Given the description of an element on the screen output the (x, y) to click on. 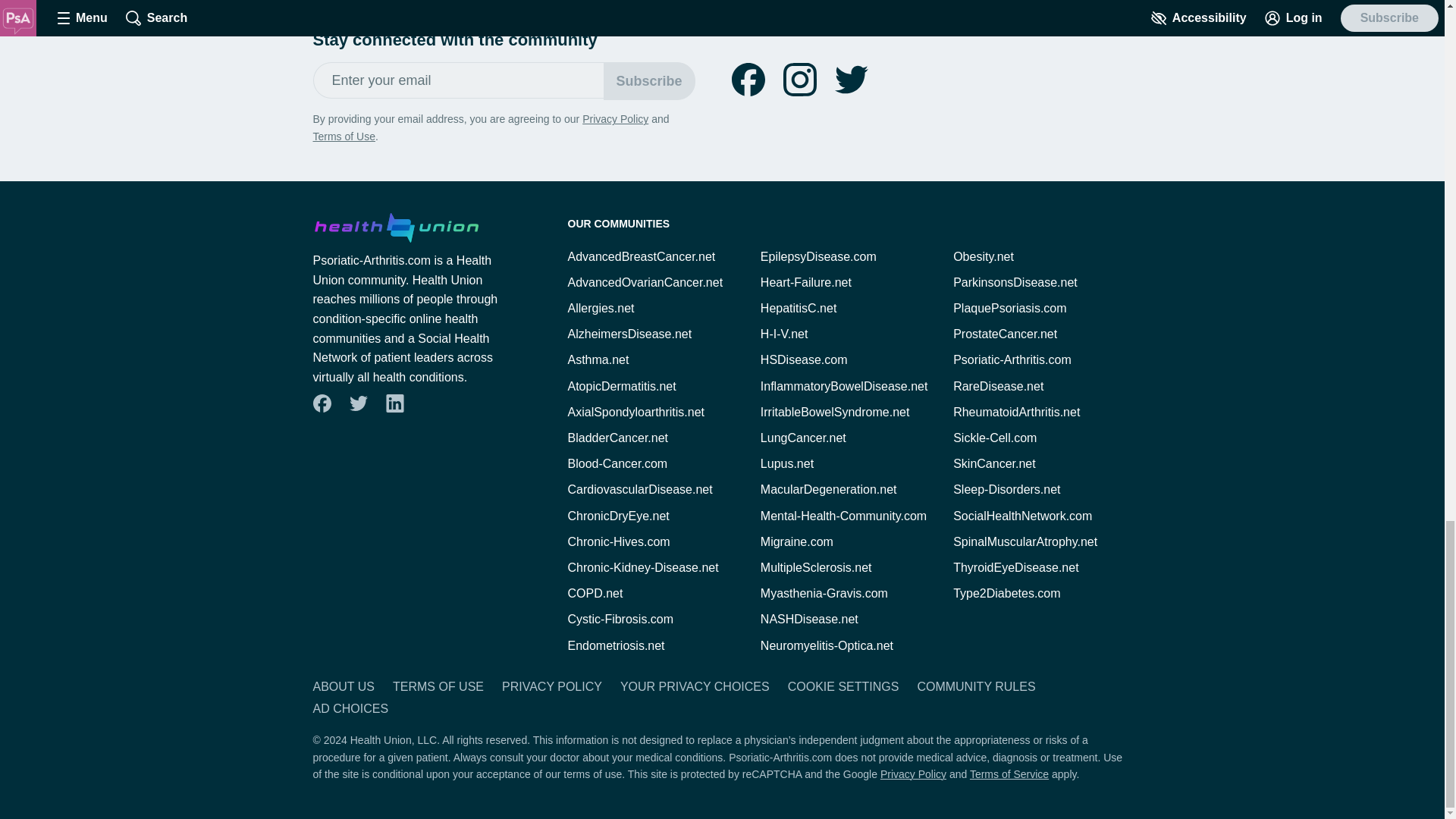
Follow us on facebook (747, 79)
Subscribe (649, 80)
AdvancedBreastCancer.net (640, 256)
Follow us on facebook (321, 402)
Follow us on facebook (747, 79)
Follow us on twitter (357, 403)
Follow us on twitter (357, 402)
Follow us on instagram (799, 79)
AdvancedOvarianCancer.net (644, 282)
Follow us on twitter (850, 79)
